Given the description of an element on the screen output the (x, y) to click on. 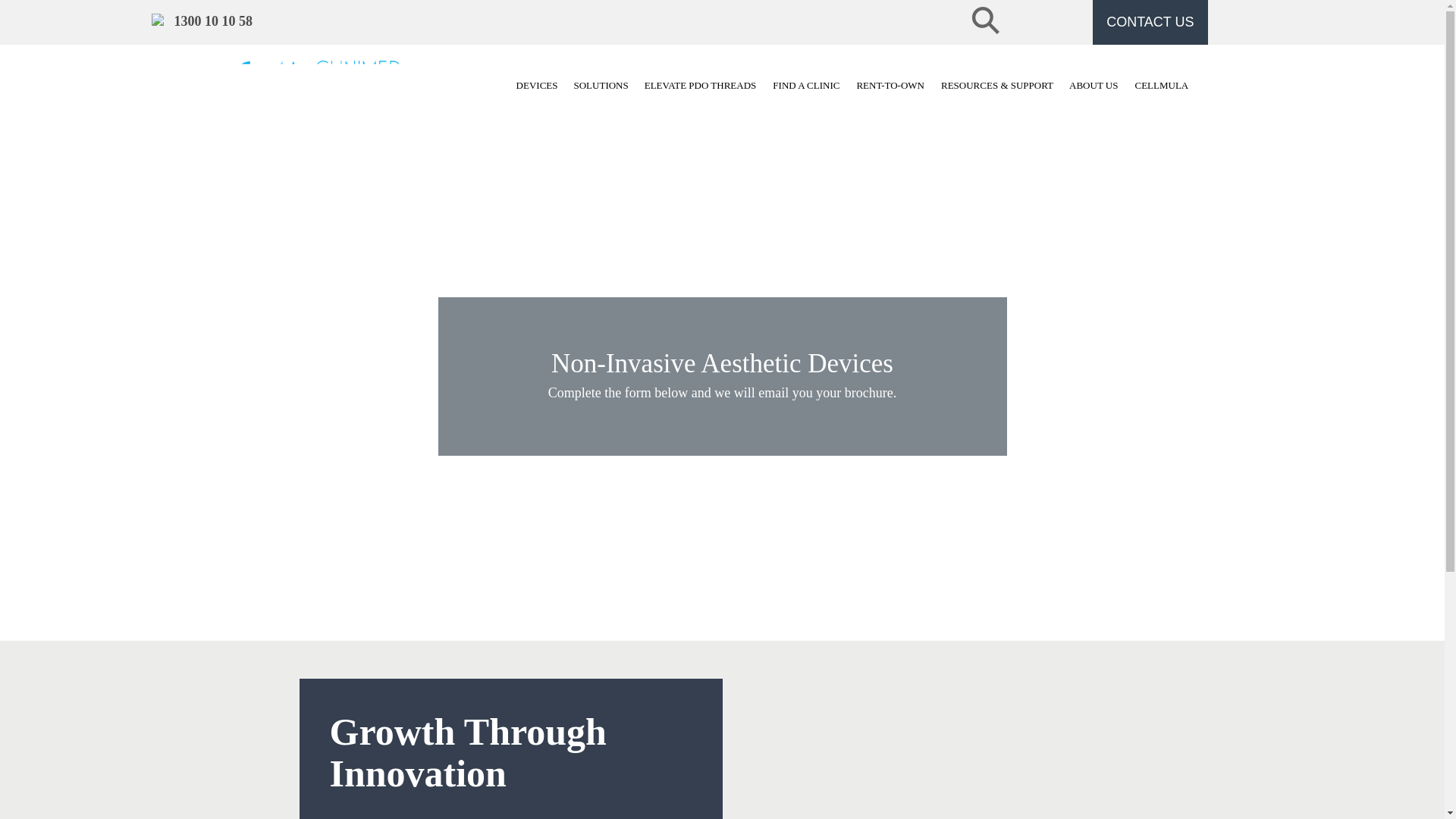
DEVICES (536, 88)
   1300 10 10 58 (207, 20)
SOLUTIONS (600, 88)
CliniMedLogo (330, 77)
CONTACT US (1150, 22)
